Given the description of an element on the screen output the (x, y) to click on. 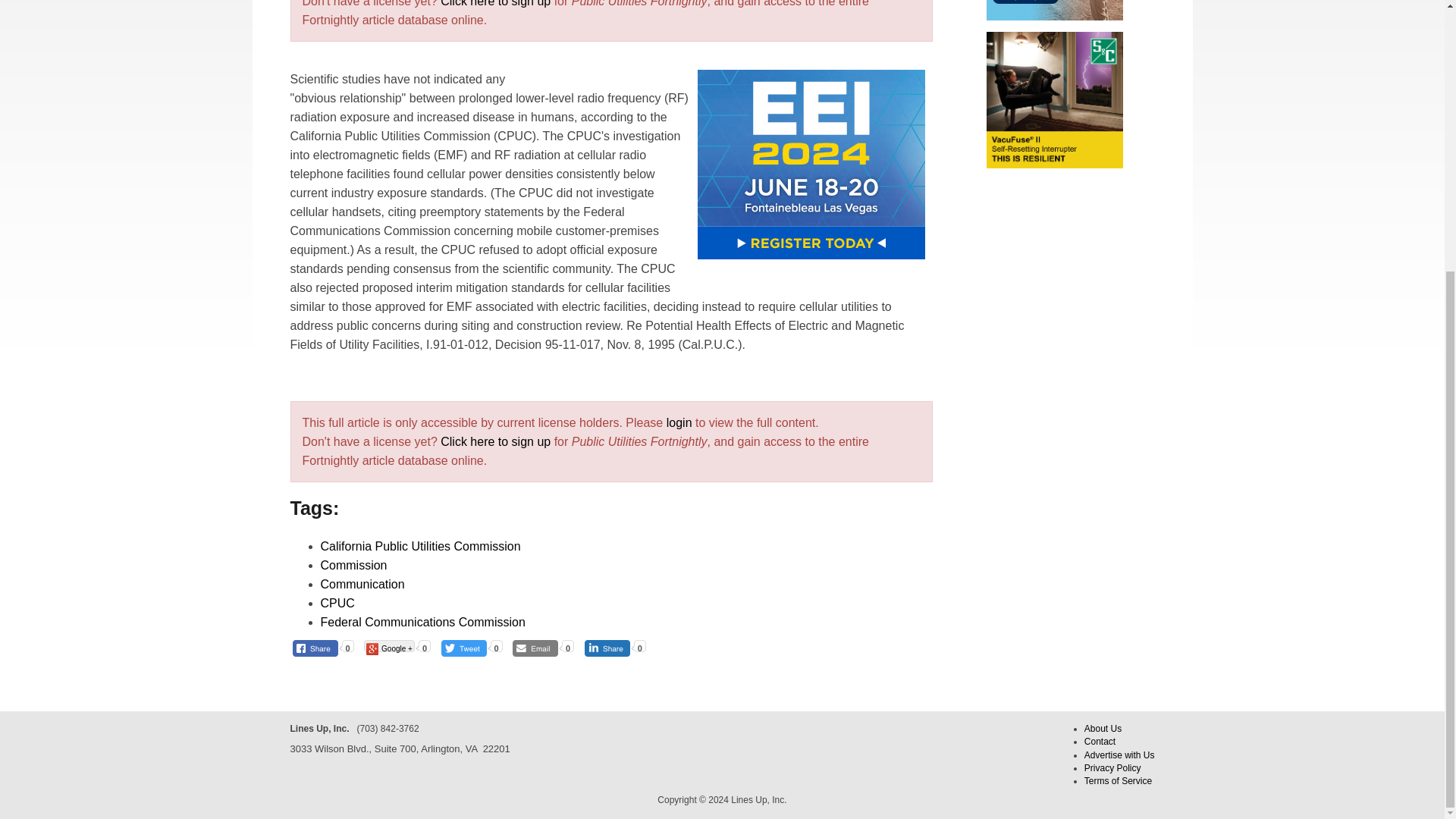
Federal Communications Commission (422, 621)
Privacy Policy (1112, 767)
Commission (353, 564)
About Us (1102, 728)
Terms of Service (1117, 780)
California Public Utilities Commission (419, 545)
Advertise with Us (1119, 755)
Contact (1099, 741)
CPUC (336, 603)
Communication (362, 584)
